Given the description of an element on the screen output the (x, y) to click on. 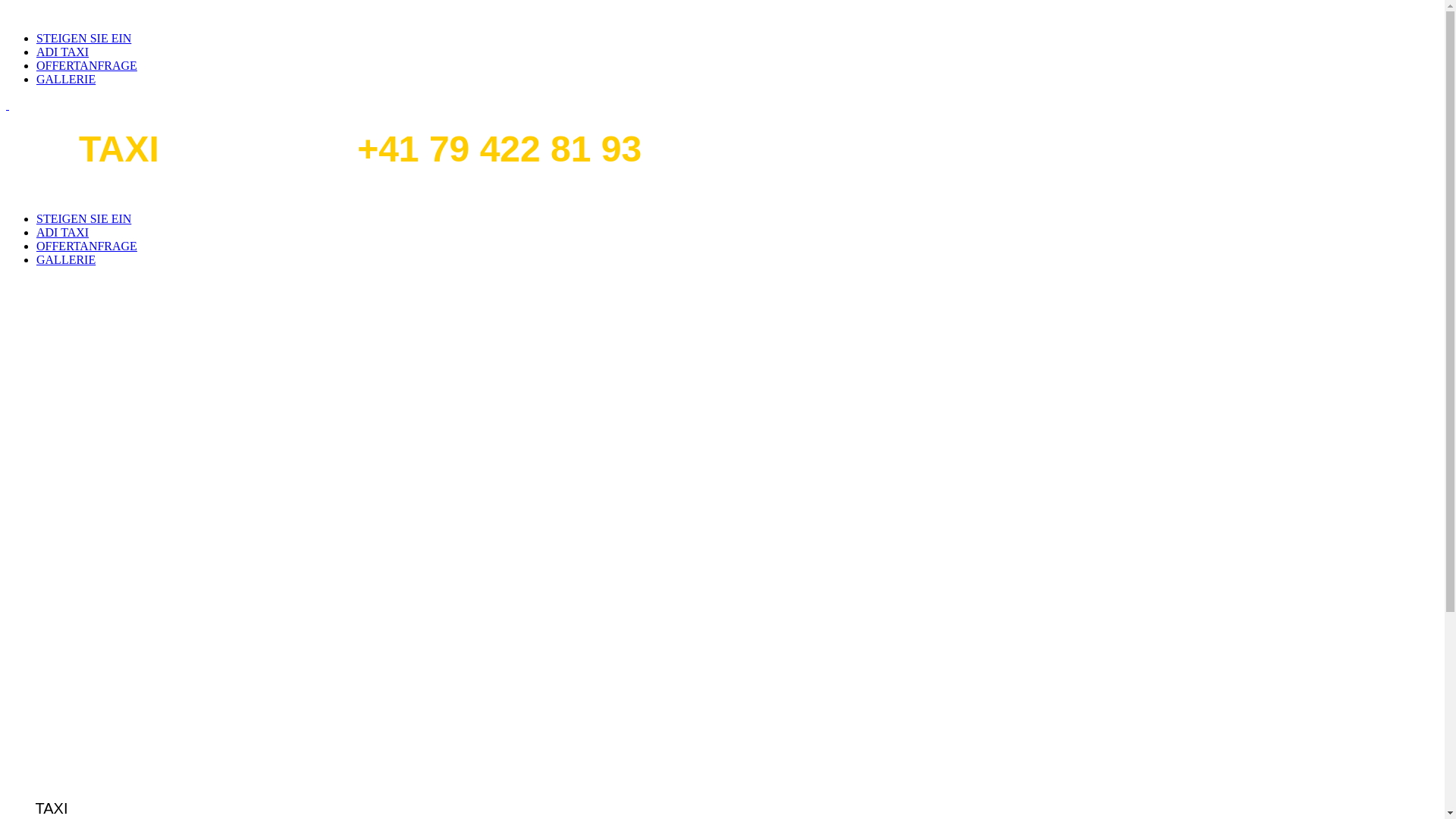
GALLERIE Element type: text (65, 78)
STEIGEN SIE EIN Element type: text (83, 218)
  Element type: text (7, 104)
ADI TAXI Element type: text (62, 231)
STEIGEN SIE EIN Element type: text (83, 37)
ADI TAXI Element type: text (62, 51)
GALLERIE Element type: text (65, 259)
OFFERTANFRAGE Element type: text (86, 245)
OFFERTANFRAGE Element type: text (86, 65)
